Given the description of an element on the screen output the (x, y) to click on. 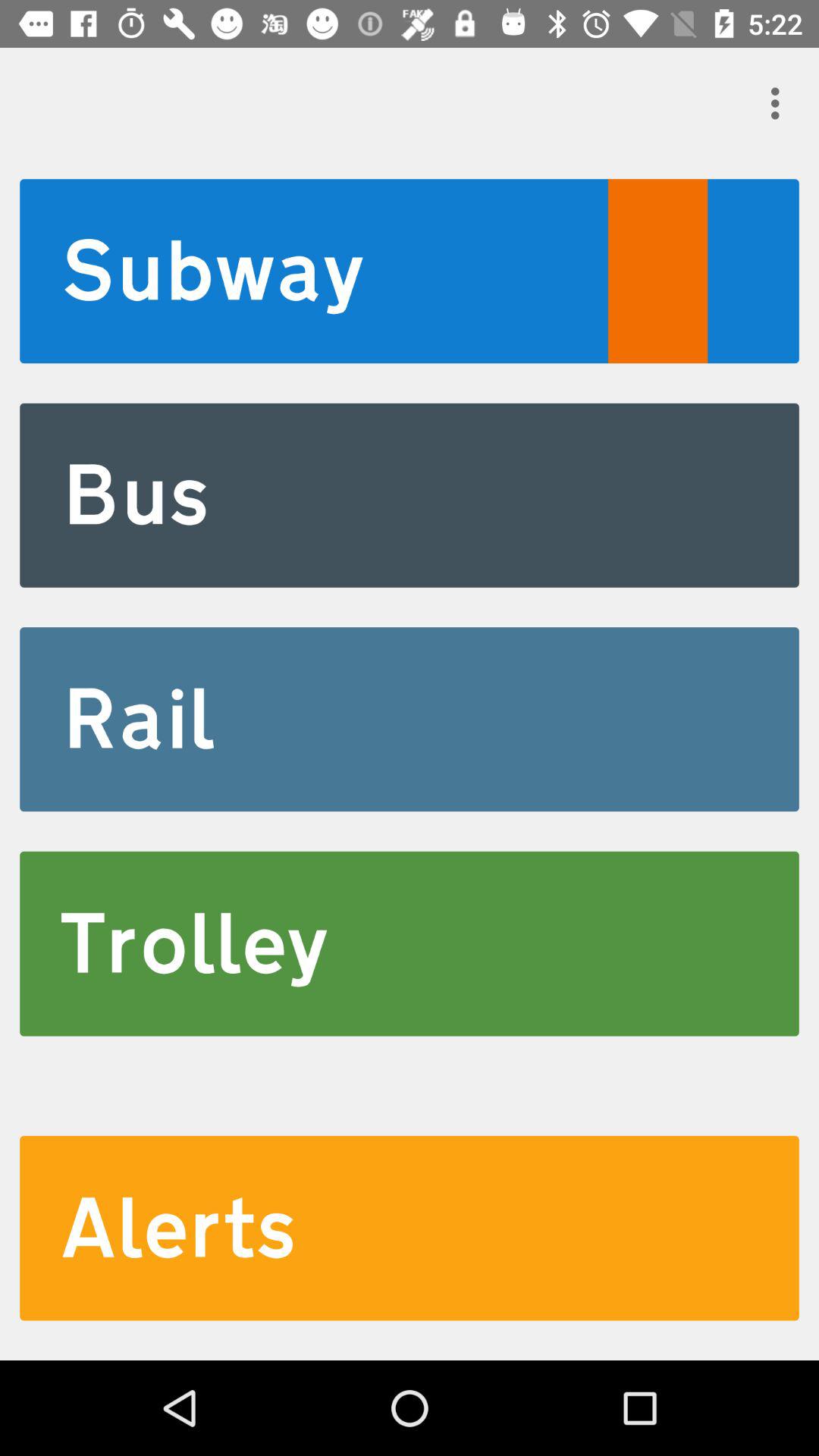
flip until the trolley icon (409, 943)
